Given the description of an element on the screen output the (x, y) to click on. 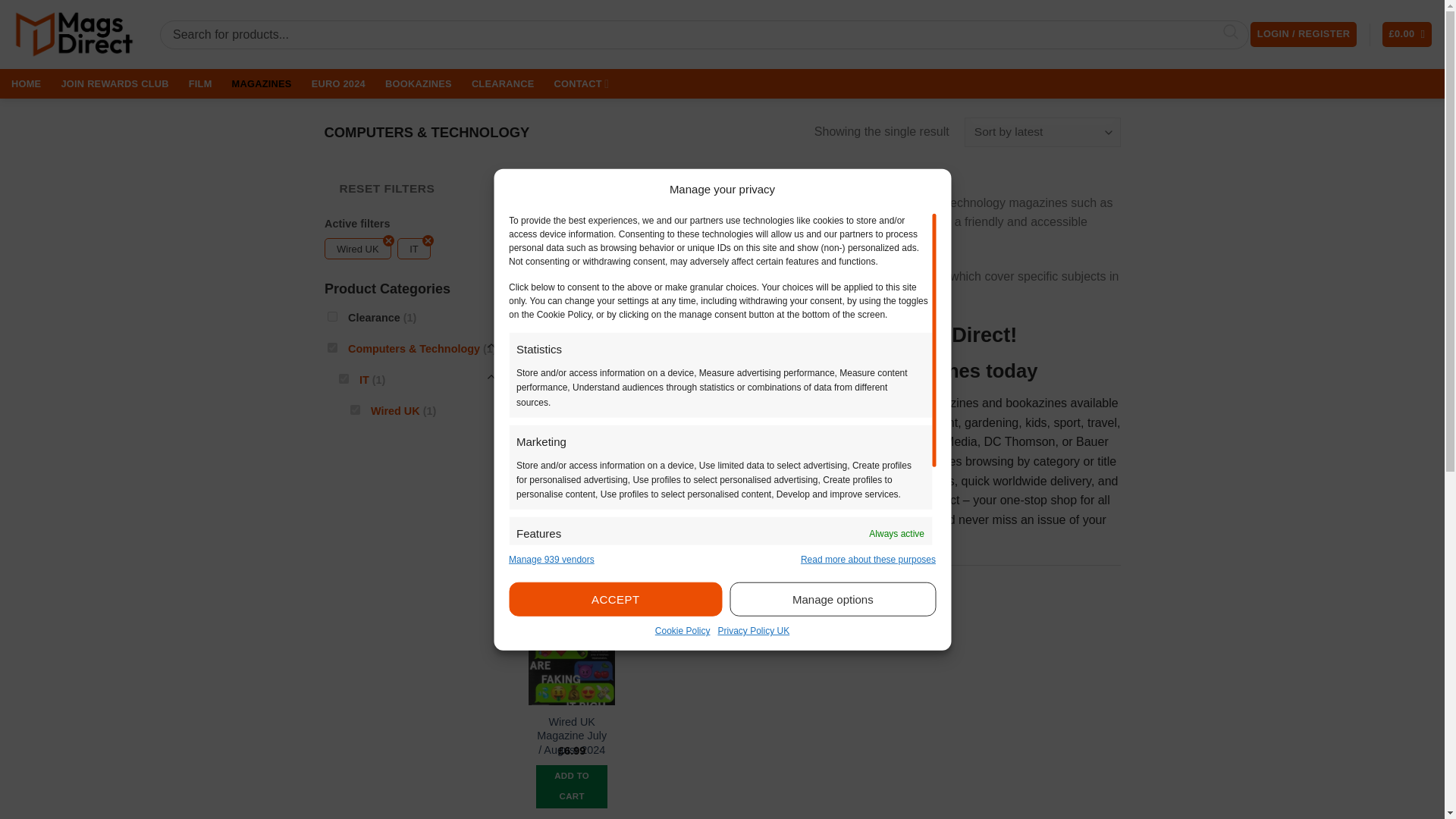
computers-technology (332, 347)
HOME (25, 84)
Cookie Policy (682, 631)
BOOKAZINES (418, 84)
it-magazines (342, 378)
Read more about these purposes (868, 559)
Cart (1406, 34)
clearance (332, 316)
MAGAZINES (261, 84)
ACCEPT (615, 599)
wired-uk (354, 409)
Login (1303, 34)
Manage 939 vendors (551, 559)
EURO 2024 (338, 84)
